Given the description of an element on the screen output the (x, y) to click on. 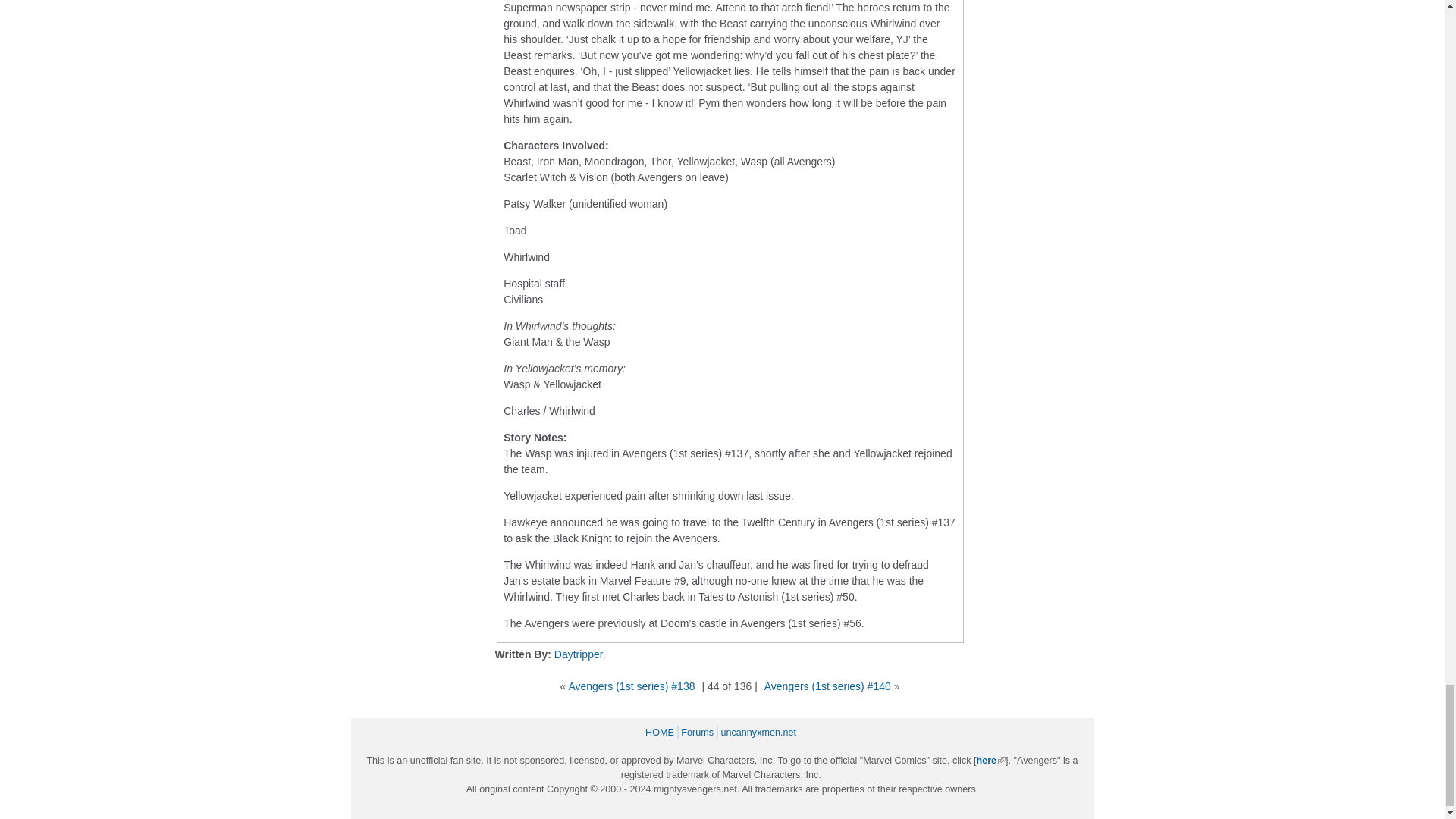
uncannyxmen.net (759, 732)
Forums (699, 732)
HOME (661, 732)
Daytripper (578, 654)
